Given the description of an element on the screen output the (x, y) to click on. 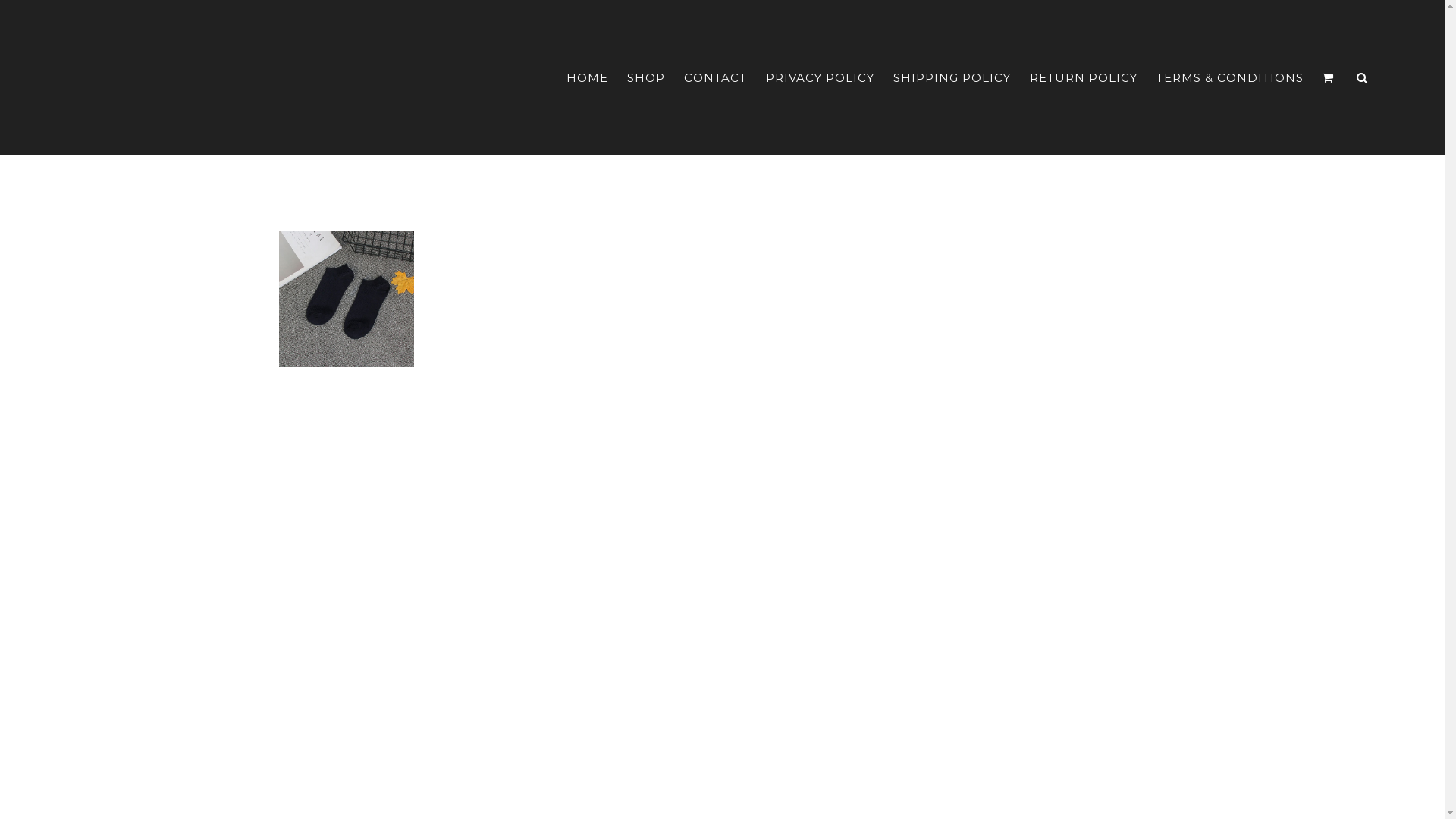
RETURN POLICY Element type: text (1083, 77)
PRIVACY POLICY Element type: text (819, 77)
Search Element type: hover (1362, 77)
HOME Element type: text (587, 77)
SHIPPING POLICY Element type: text (951, 77)
SHOP Element type: text (646, 77)
CONTACT Element type: text (715, 77)
TERMS & CONDITIONS Element type: text (1229, 77)
